Given the description of an element on the screen output the (x, y) to click on. 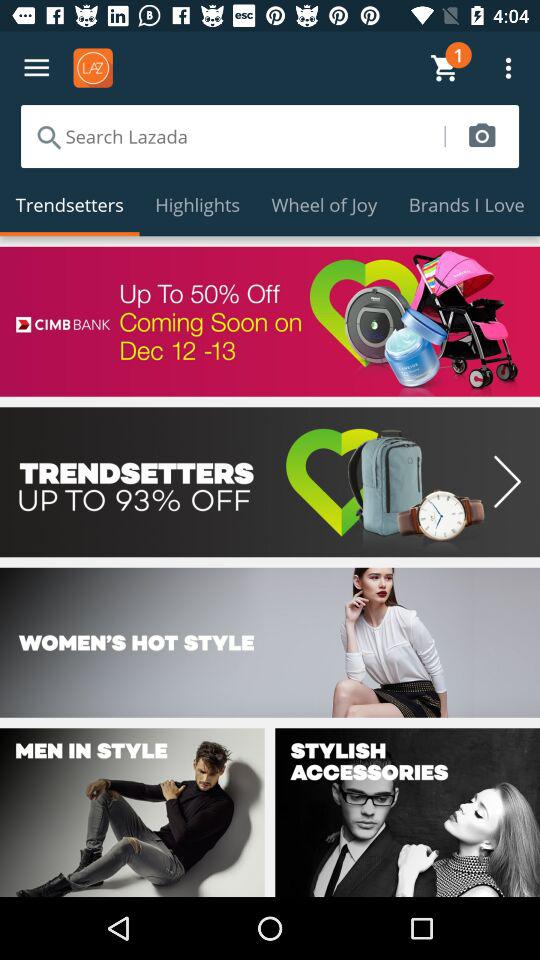
select offer trensetters (270, 482)
